Given the description of an element on the screen output the (x, y) to click on. 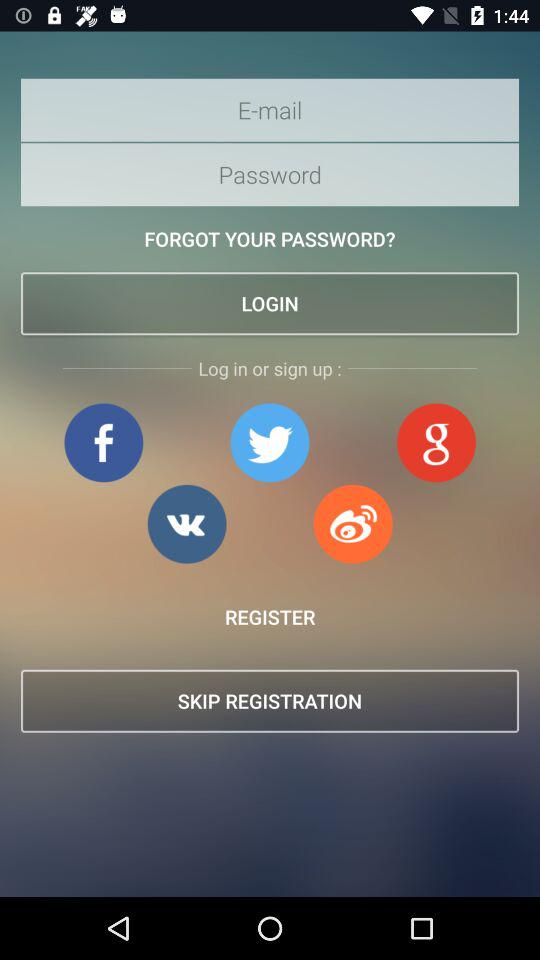
swipe to the skip registration button (270, 700)
